Given the description of an element on the screen output the (x, y) to click on. 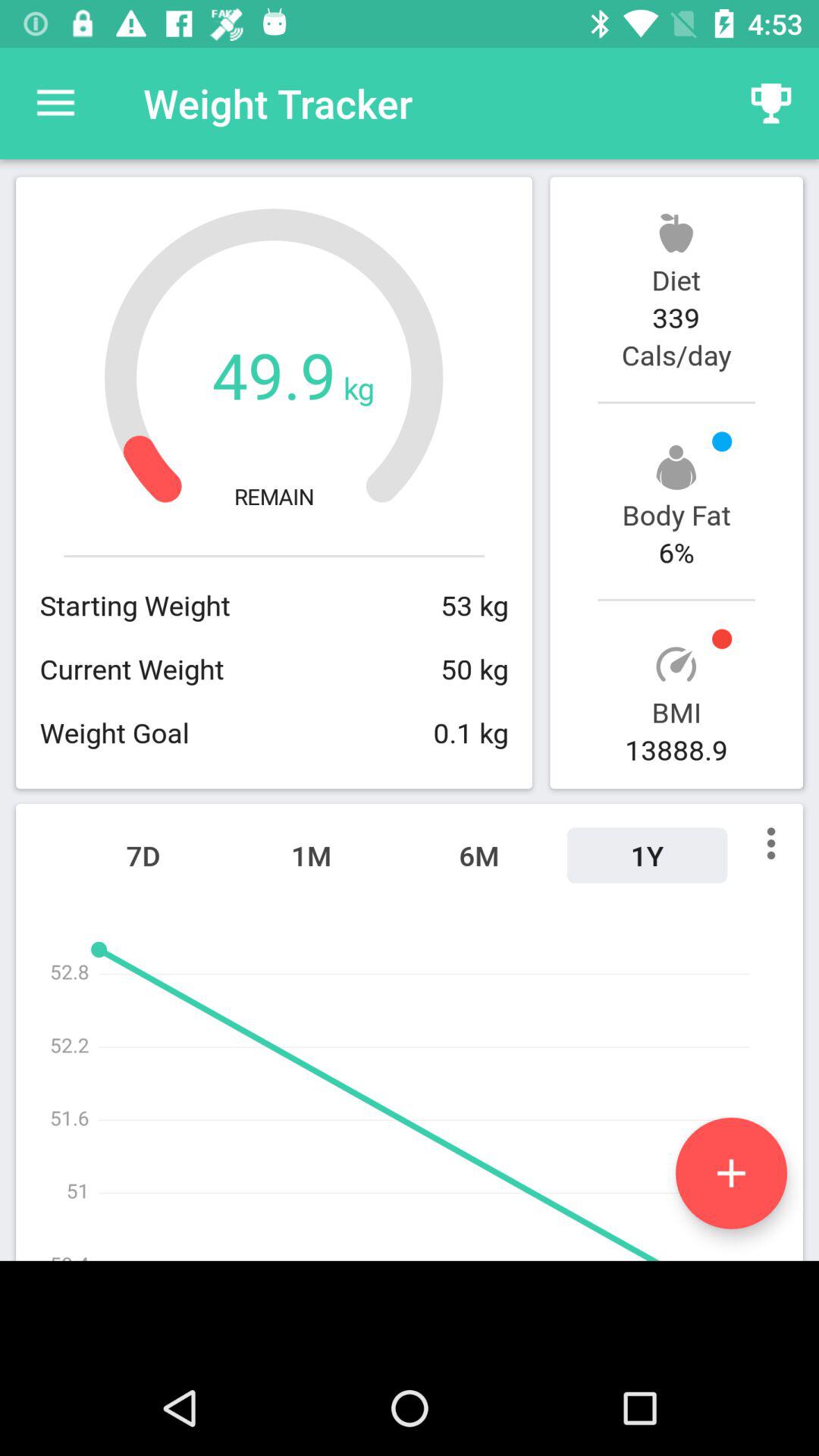
set new weight objective (731, 1173)
